Given the description of an element on the screen output the (x, y) to click on. 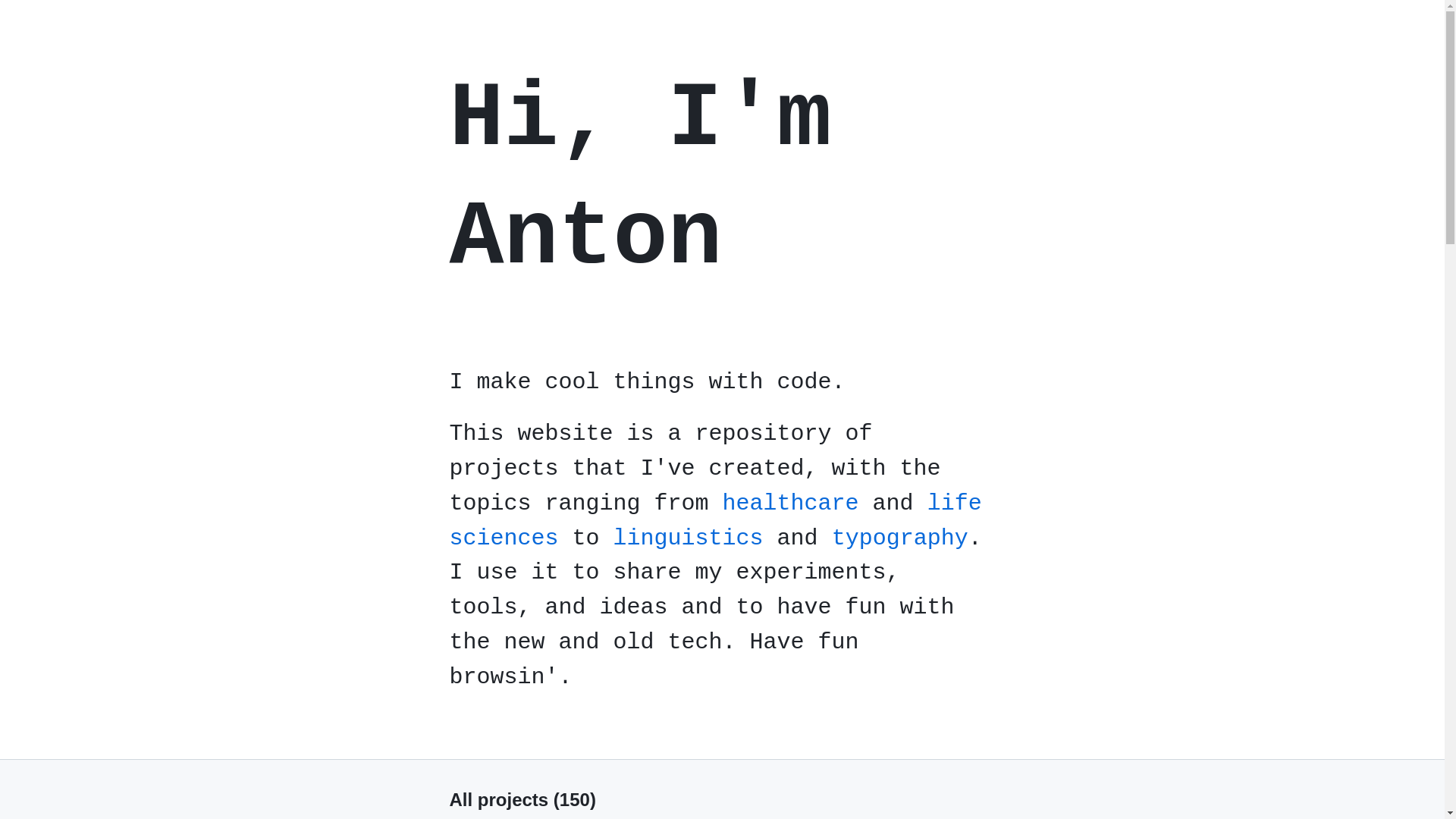
healthcare Element type: text (790, 503)
life sciences Element type: text (714, 520)
linguistics Element type: text (688, 537)
typography Element type: text (899, 537)
